Given the description of an element on the screen output the (x, y) to click on. 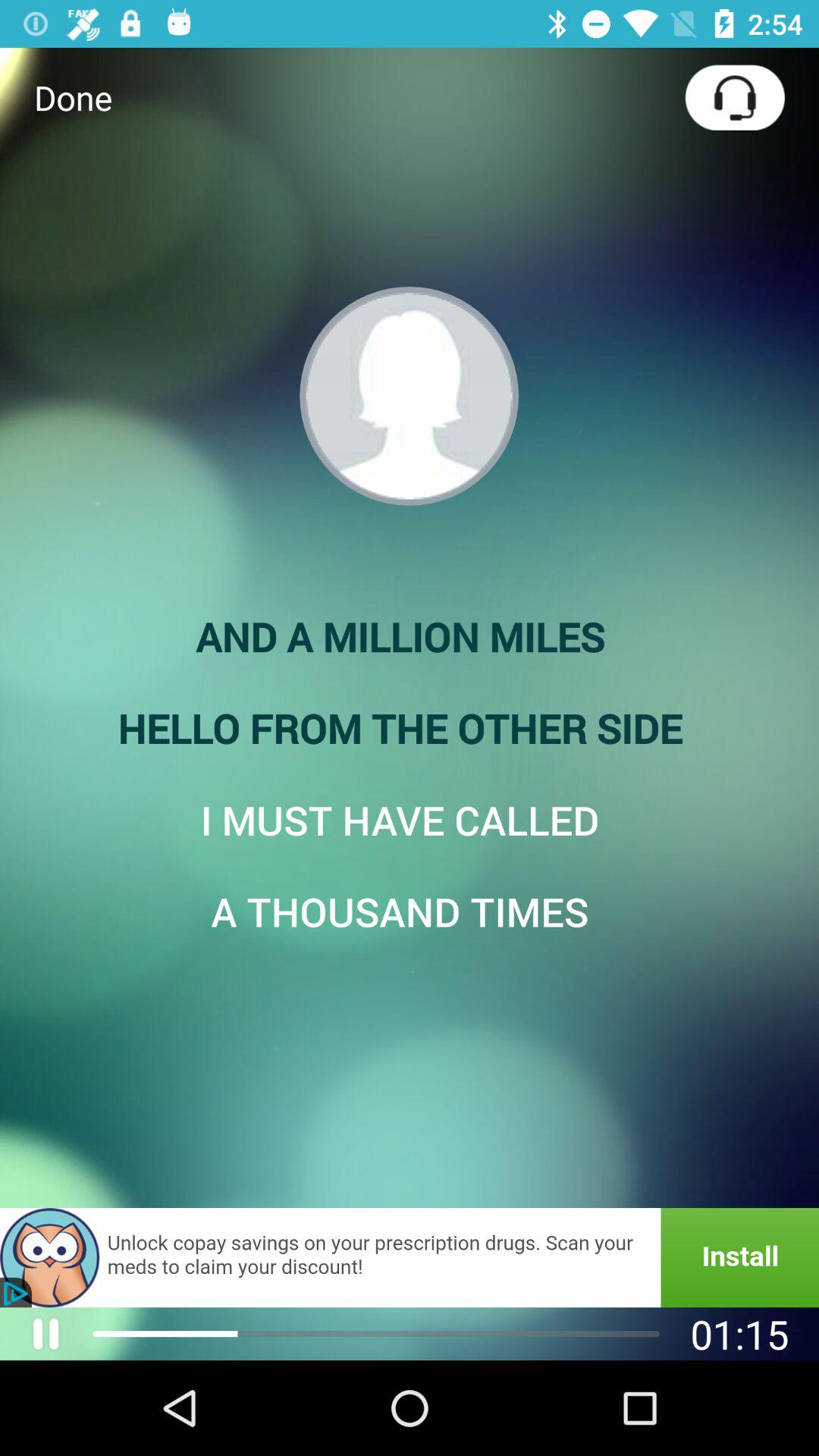
open the item at the bottom left corner (46, 1333)
